Given the description of an element on the screen output the (x, y) to click on. 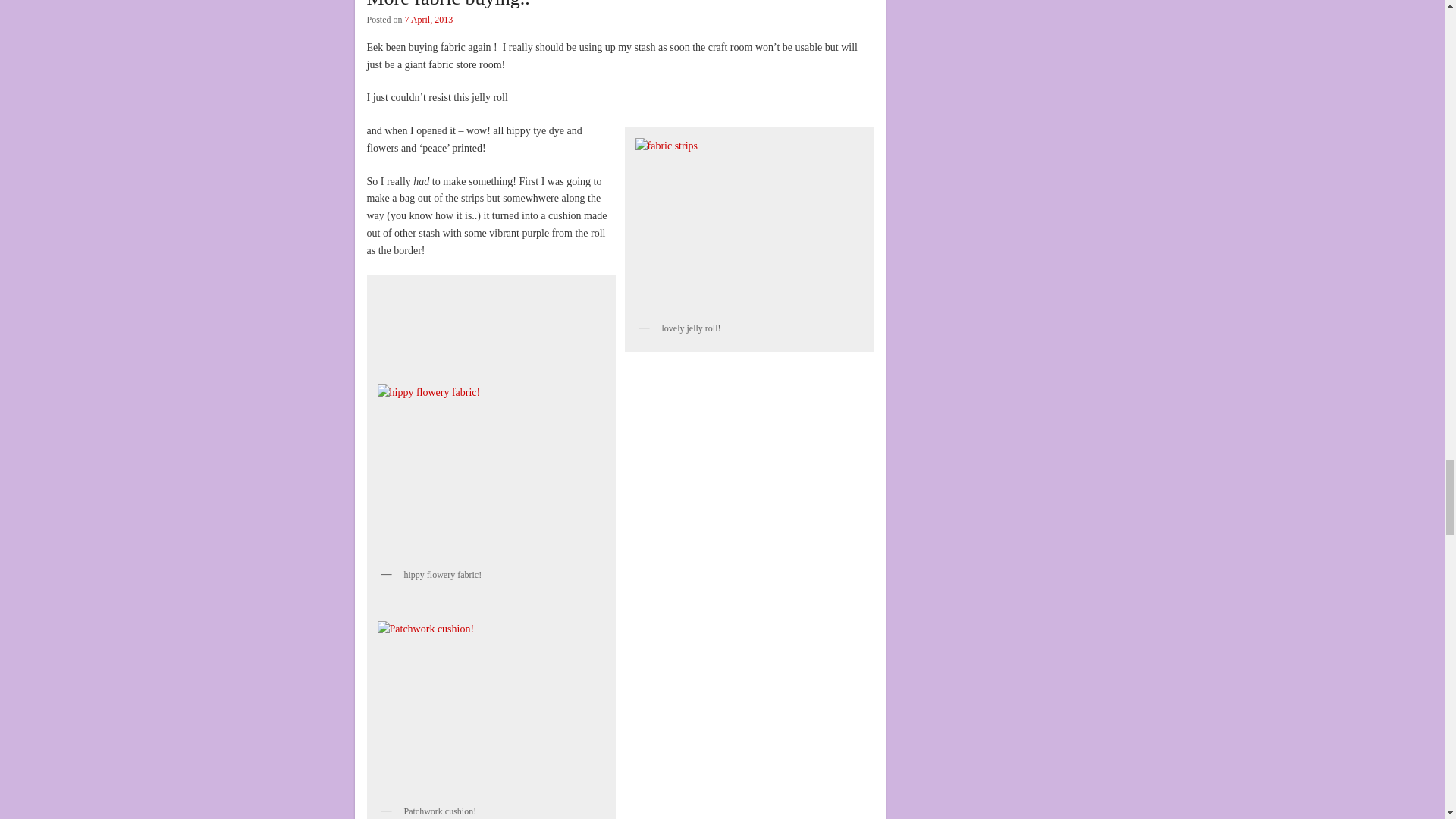
6:56 pm (428, 19)
